Given the description of an element on the screen output the (x, y) to click on. 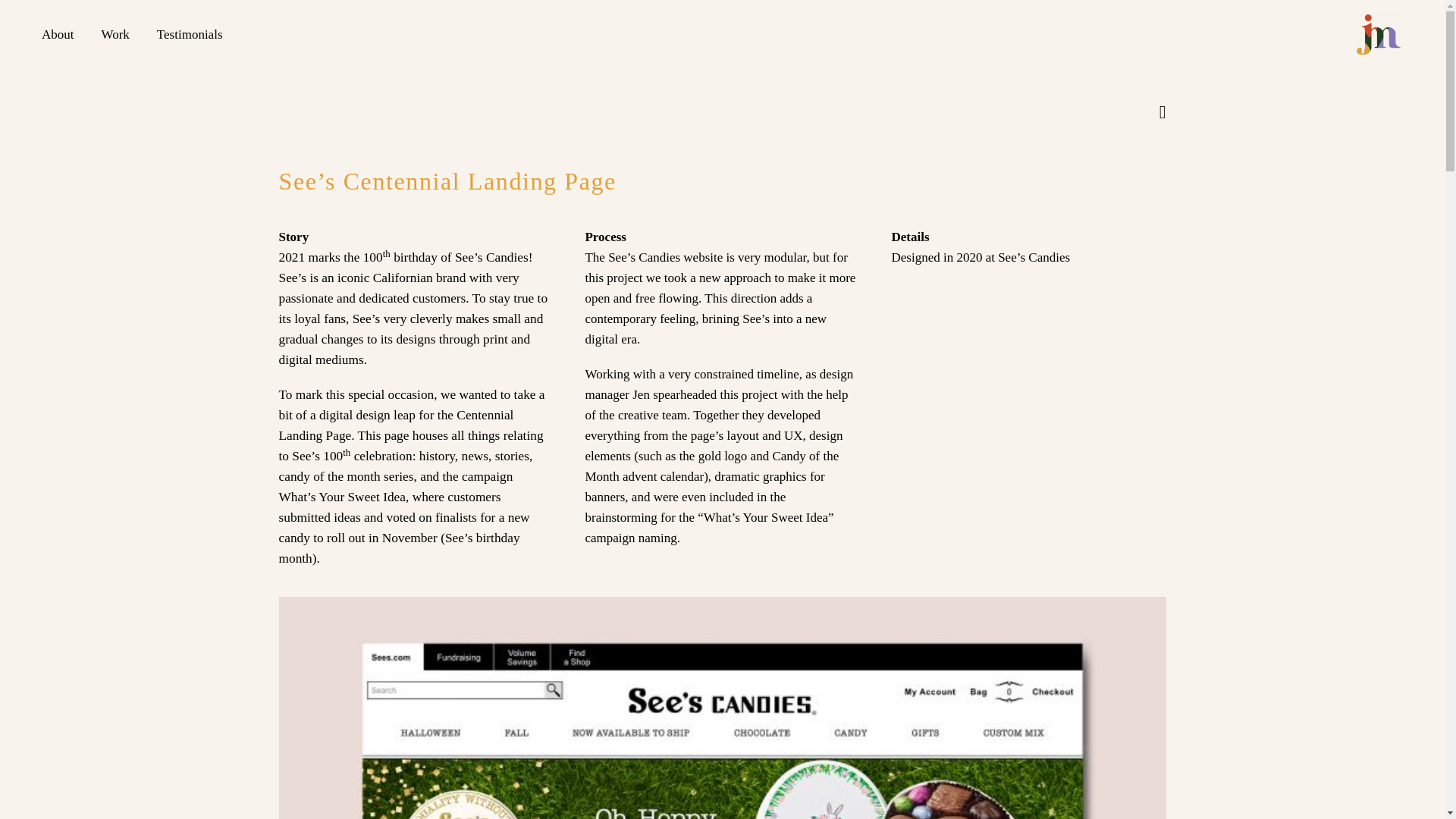
Work (113, 34)
Next post (1162, 112)
About (57, 34)
Testimonials (189, 34)
